Given the description of an element on the screen output the (x, y) to click on. 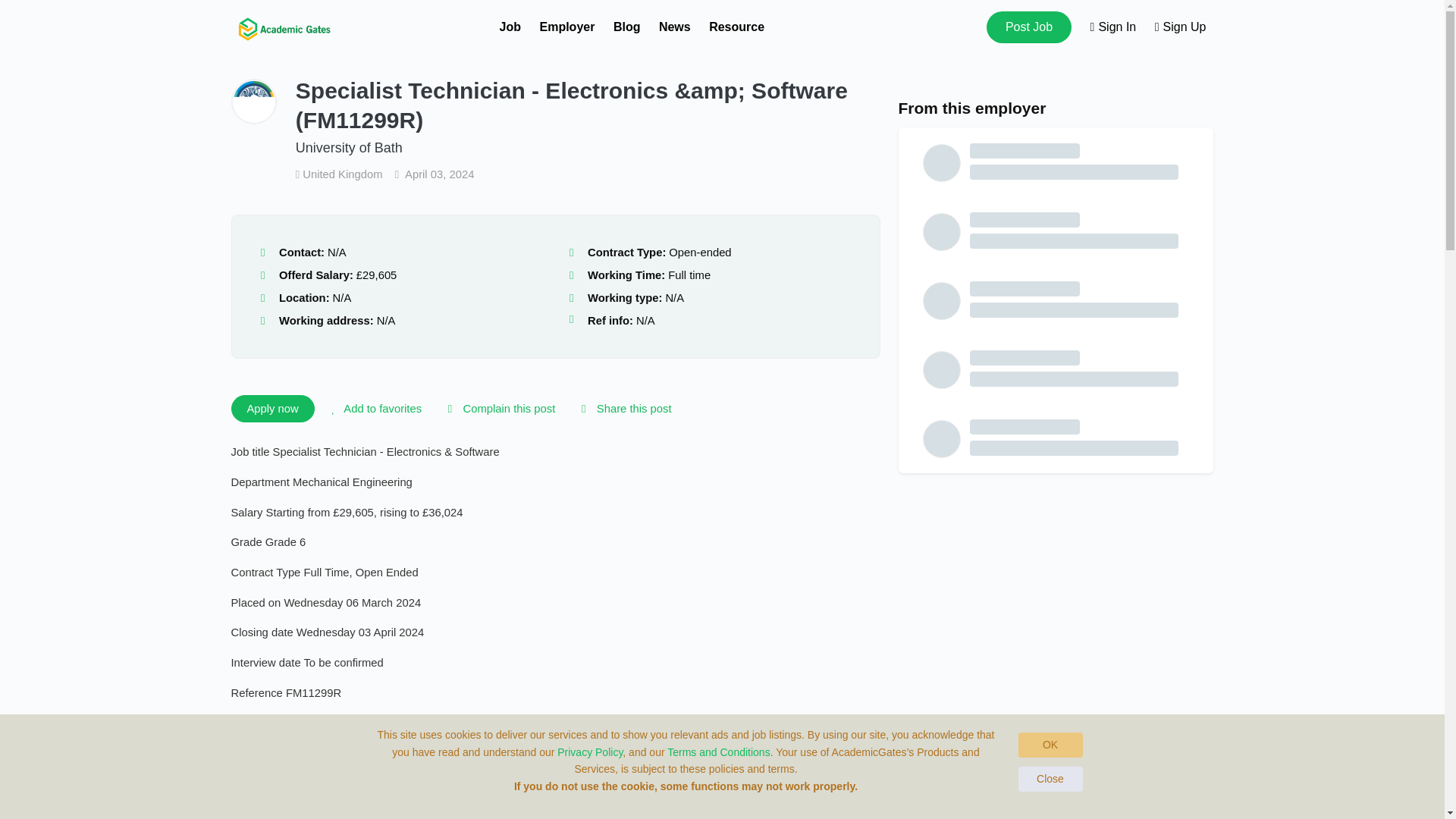
Apply now (272, 408)
News (674, 26)
Post Job (1029, 27)
University of Bath (349, 147)
Employer (567, 26)
Advertisement (1055, 600)
Share this post (623, 408)
Complain this post (498, 408)
Job (510, 26)
Resource (736, 26)
